Given the description of an element on the screen output the (x, y) to click on. 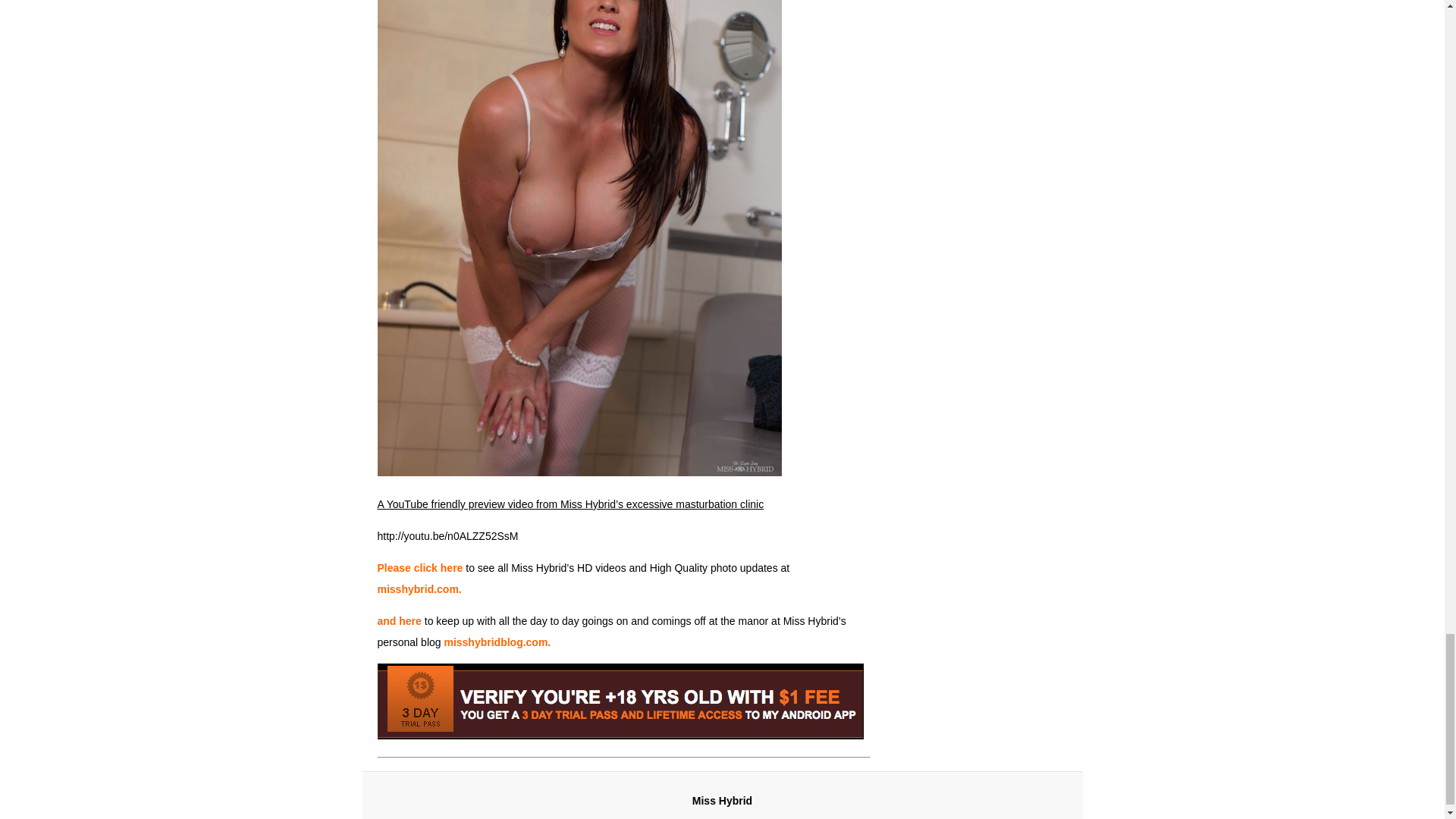
misshybrid.com. (419, 589)
Please click here (420, 567)
misshybridblog.com. (497, 642)
and here (399, 621)
